Given the description of an element on the screen output the (x, y) to click on. 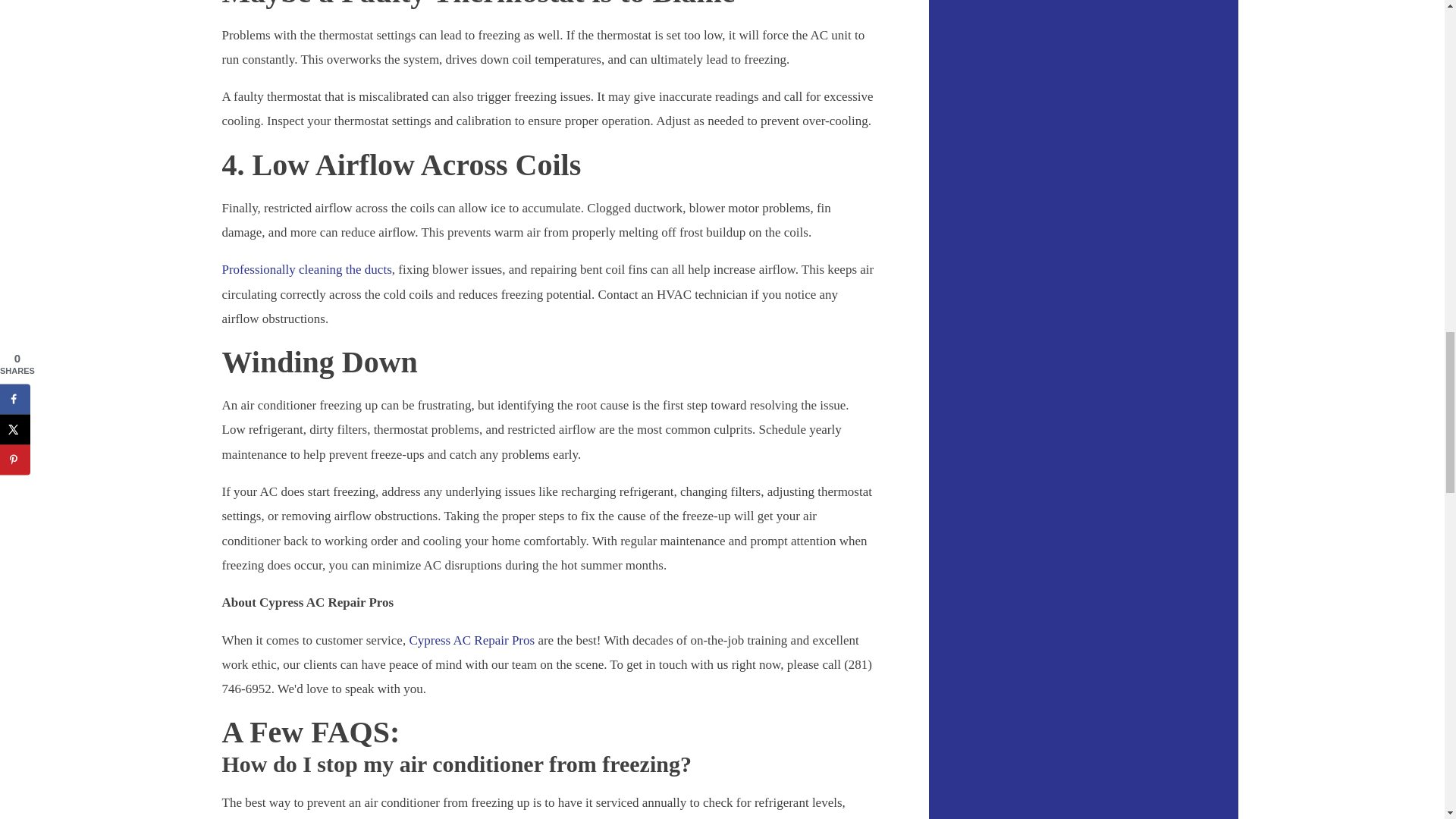
Professionally cleaning the ducts (306, 269)
Cypress AC Repair Pros (471, 640)
